Given the description of an element on the screen output the (x, y) to click on. 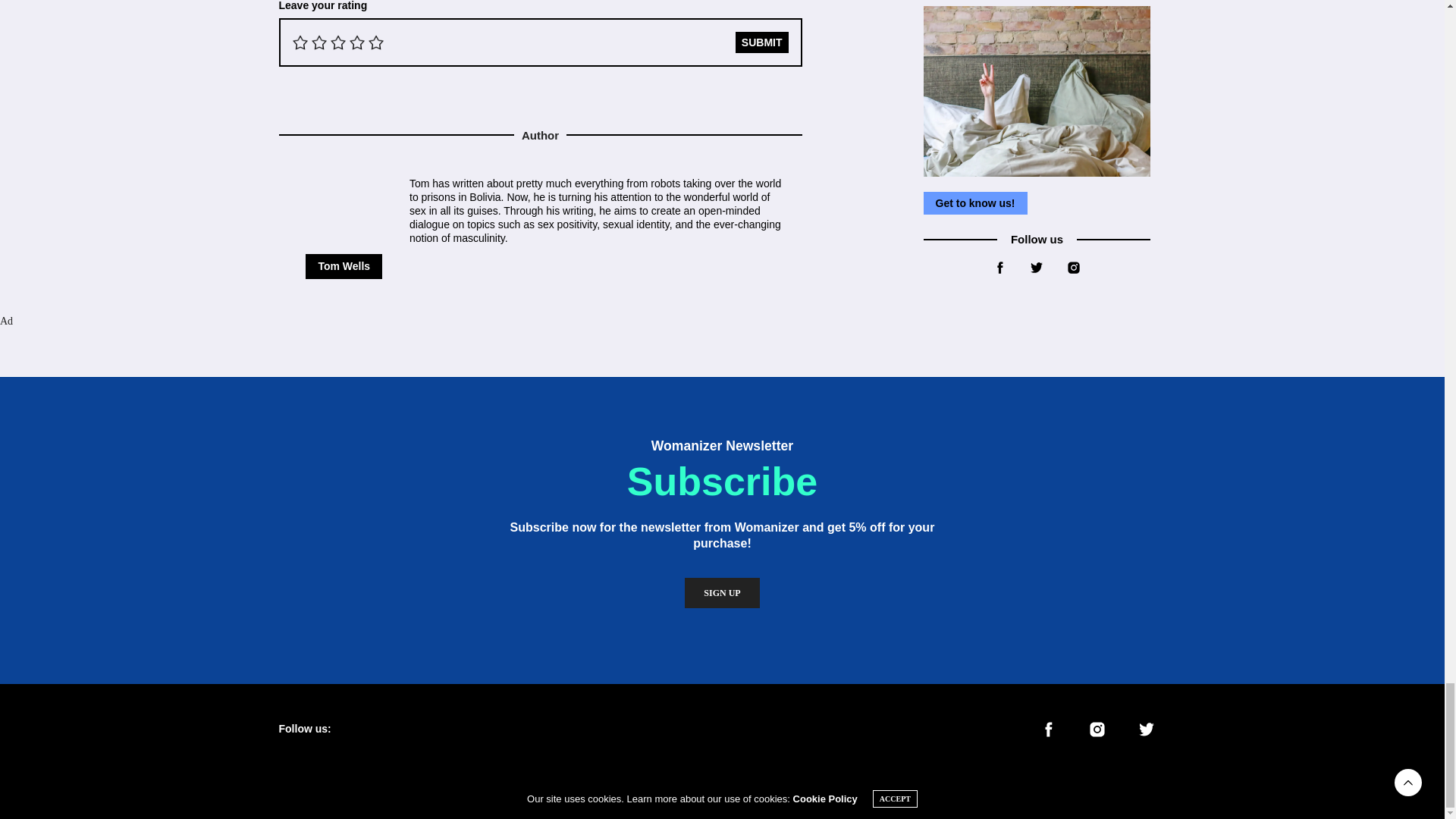
Submit (762, 42)
